Given the description of an element on the screen output the (x, y) to click on. 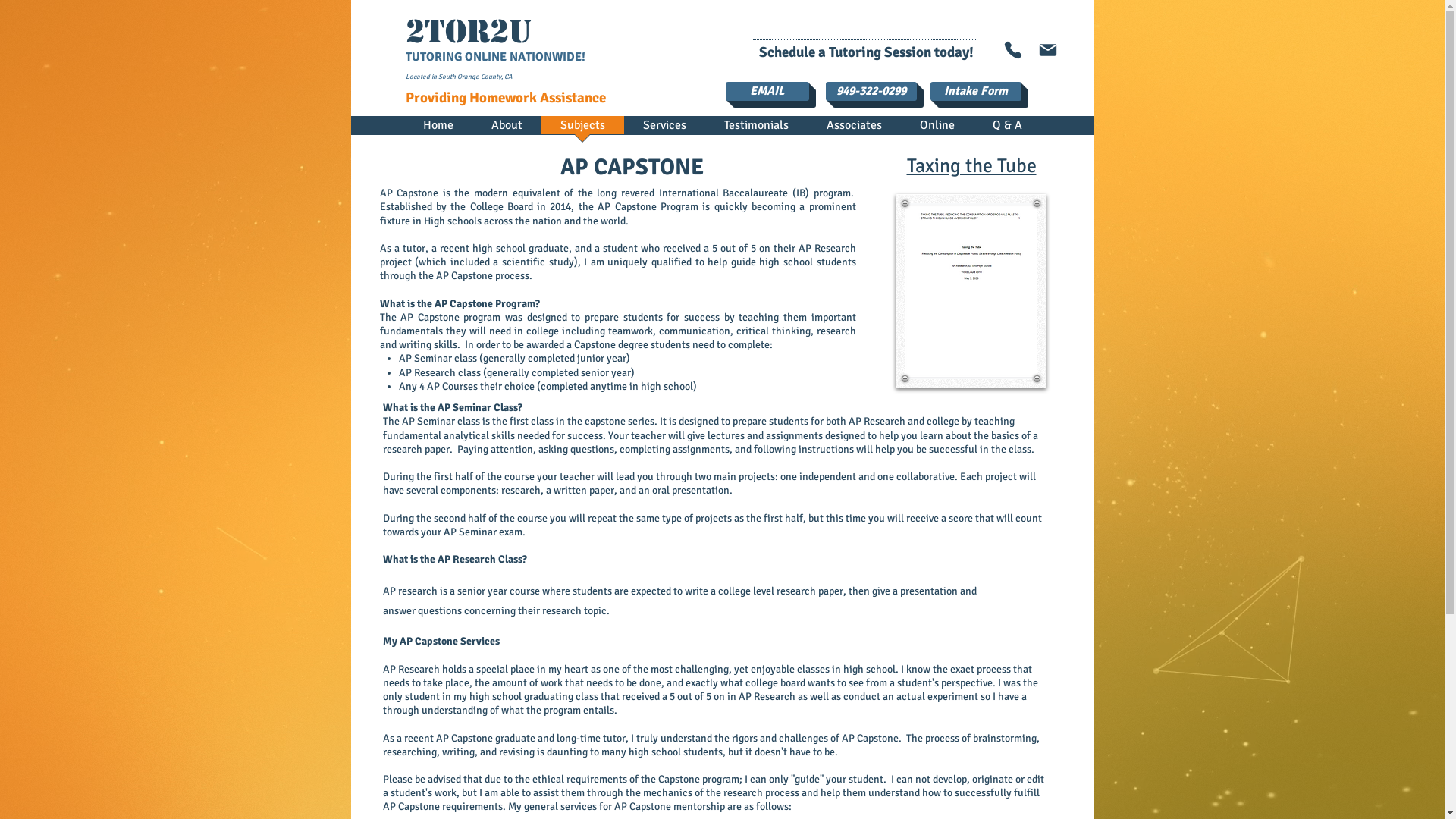
Taxing the Tube Element type: text (971, 165)
Q & A Element type: text (1007, 130)
Home Element type: text (437, 130)
949-322-0299 Element type: text (870, 90)
Testimonials Element type: text (756, 130)
Online Element type: text (936, 130)
Associates Element type: text (853, 130)
Intake Form Element type: text (974, 90)
Services Element type: text (663, 130)
EMAIL Element type: text (766, 90)
About Element type: text (505, 130)
Subjects Element type: text (582, 130)
